Given the description of an element on the screen output the (x, y) to click on. 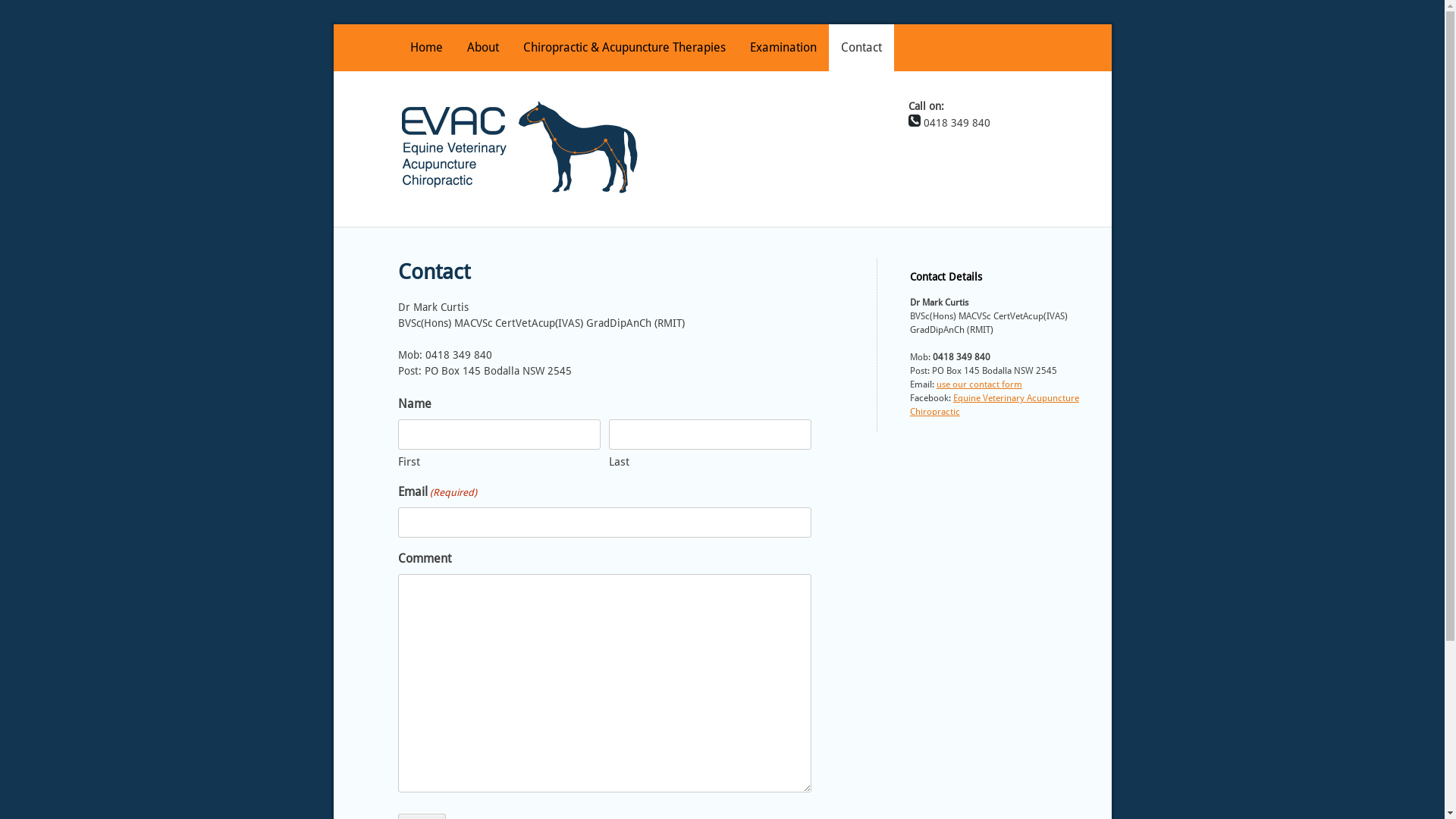
Equine Veterinary Acupuncture Chiropractic Element type: text (994, 404)
Examination Element type: text (782, 47)
Home Element type: text (426, 47)
Chiropractic & Acupuncture Therapies Element type: text (624, 47)
Contact Element type: text (861, 47)
About Element type: text (483, 47)
use our contact form Element type: text (979, 384)
Skip to content Element type: text (333, 24)
